Given the description of an element on the screen output the (x, y) to click on. 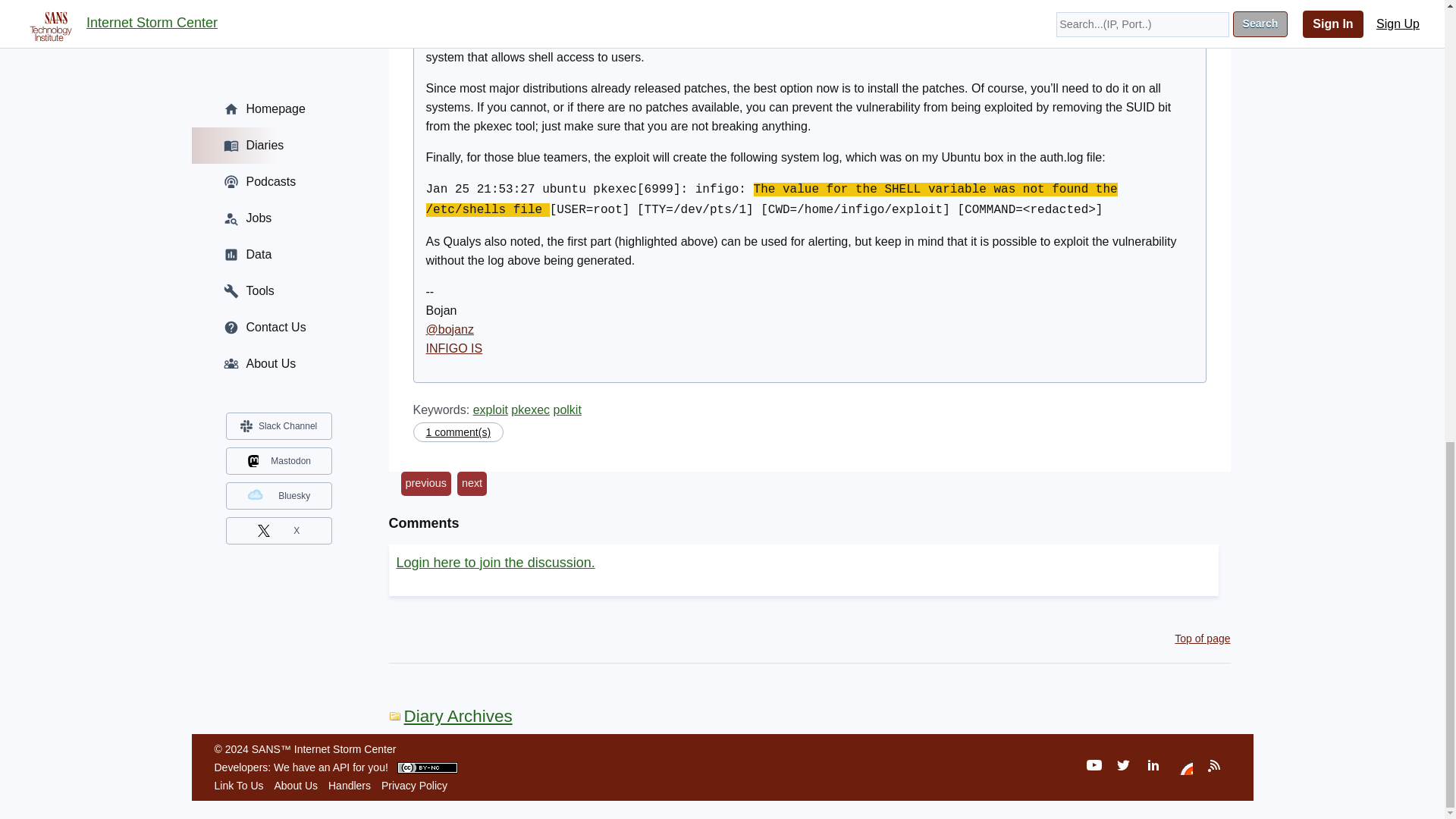
next (471, 483)
INFIGO IS (454, 348)
exploit (490, 409)
Diary Archives (450, 715)
previous (424, 483)
Login here to join the discussion. (495, 562)
pkexec (530, 409)
polkit (566, 409)
Top of page (1202, 638)
